Given the description of an element on the screen output the (x, y) to click on. 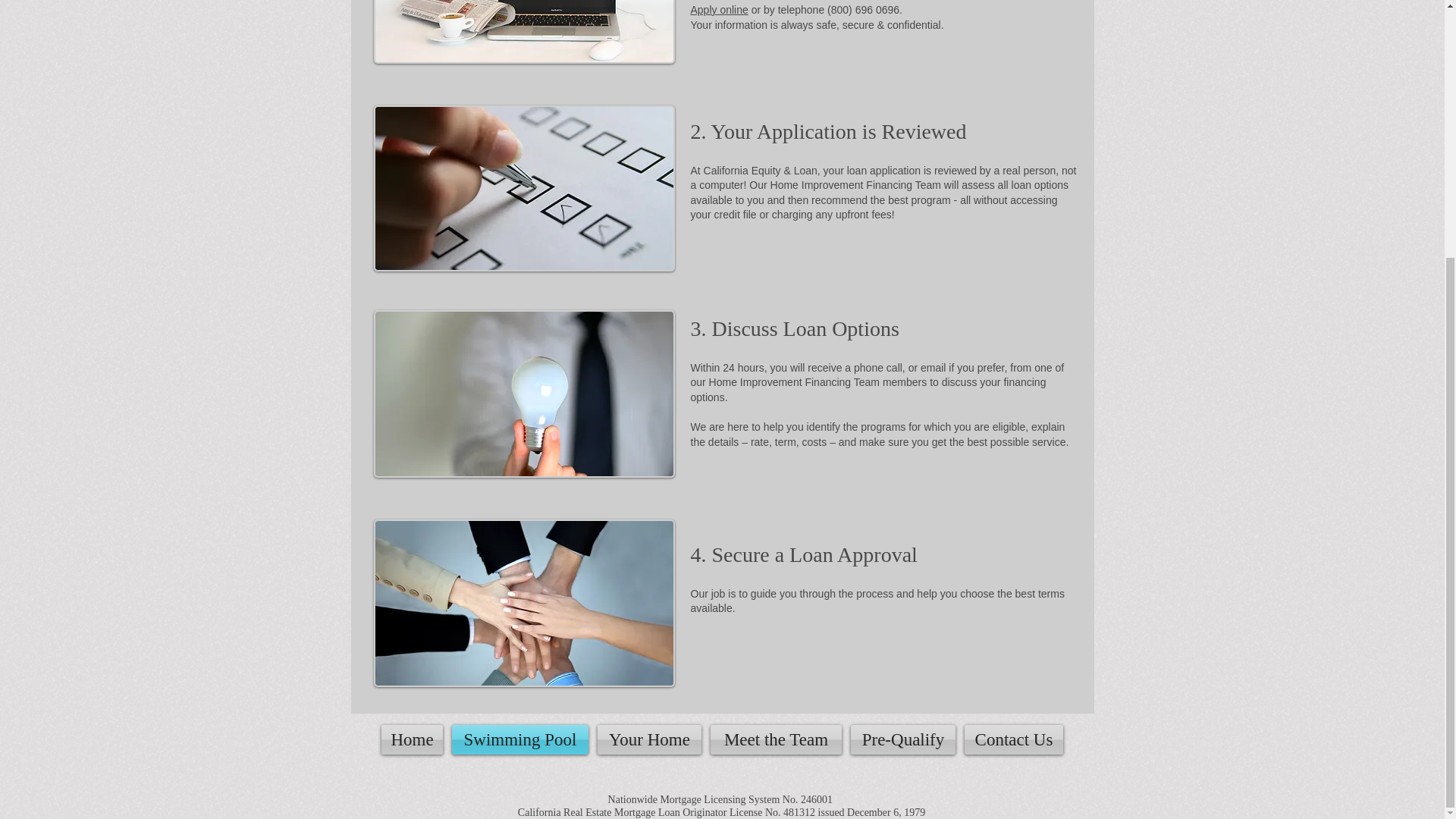
Swimming Pool (519, 739)
Contact Us (1013, 739)
Checklist  (523, 188)
Your Home (649, 739)
Home (411, 739)
Pre-Qualify (902, 739)
Meet the Team (775, 739)
Apply online (719, 9)
